Given the description of an element on the screen output the (x, y) to click on. 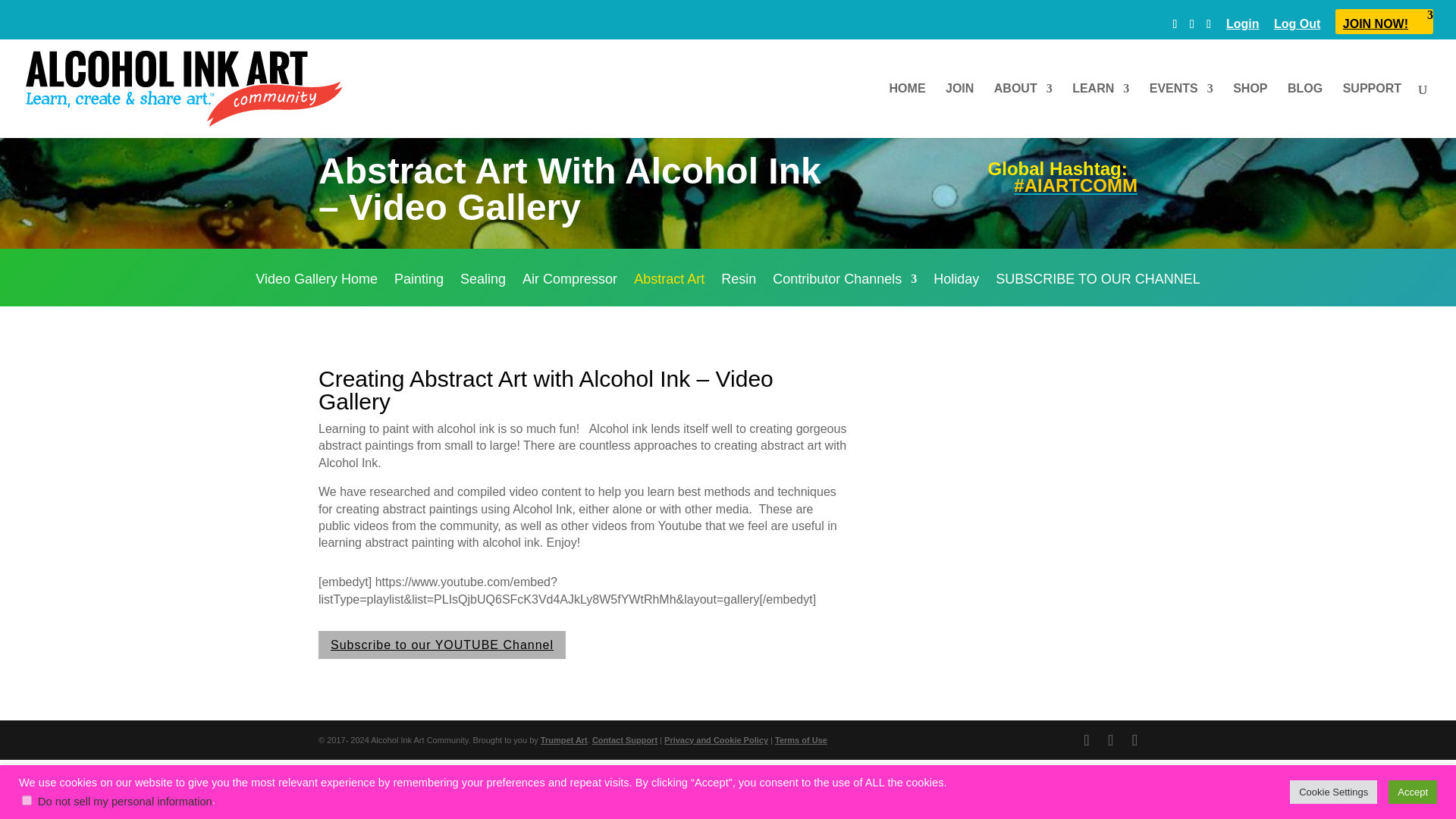
HOME (907, 110)
JOIN (959, 110)
Log Out (1297, 28)
JOIN NOW! (1382, 28)
ABOUT (1023, 110)
Login (1242, 28)
Alcohol Ink Art Conference (1181, 110)
EVENTS (1181, 110)
LEARN (1100, 110)
